Given the description of an element on the screen output the (x, y) to click on. 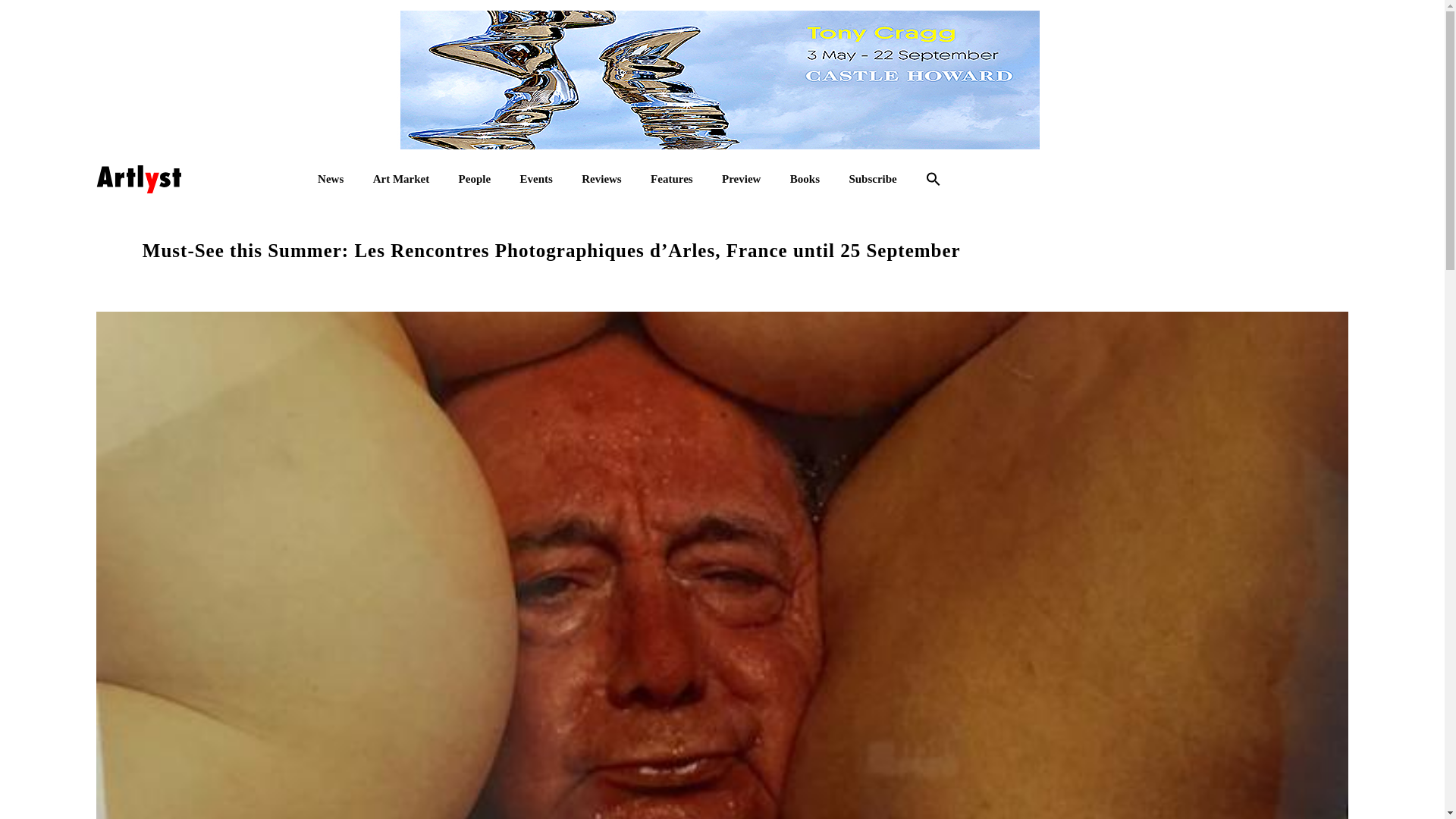
Preview (741, 178)
Reviews (600, 178)
Features (671, 178)
People (475, 178)
News (330, 178)
Subscribe (872, 178)
Books (804, 178)
Events (535, 178)
Art Market (400, 178)
